Given the description of an element on the screen output the (x, y) to click on. 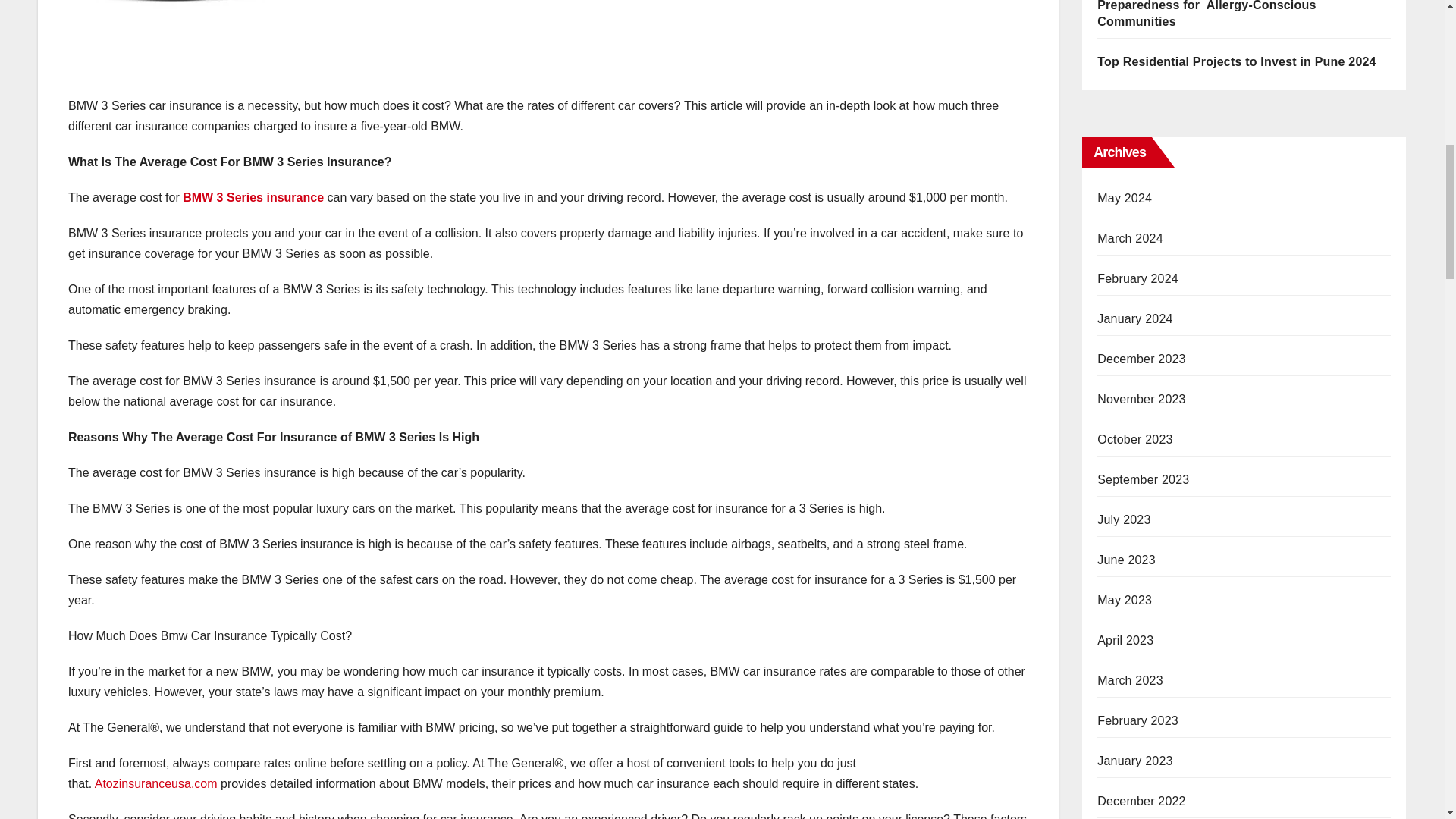
Atozinsuranceusa.com (155, 783)
BMW 3 Series insurance (253, 196)
